Given the description of an element on the screen output the (x, y) to click on. 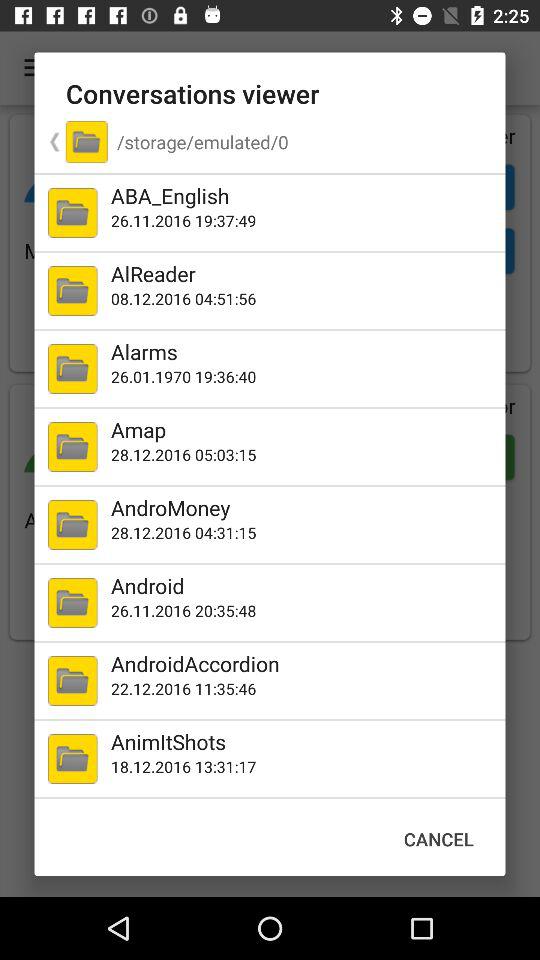
turn off the aba_english icon (304, 195)
